Given the description of an element on the screen output the (x, y) to click on. 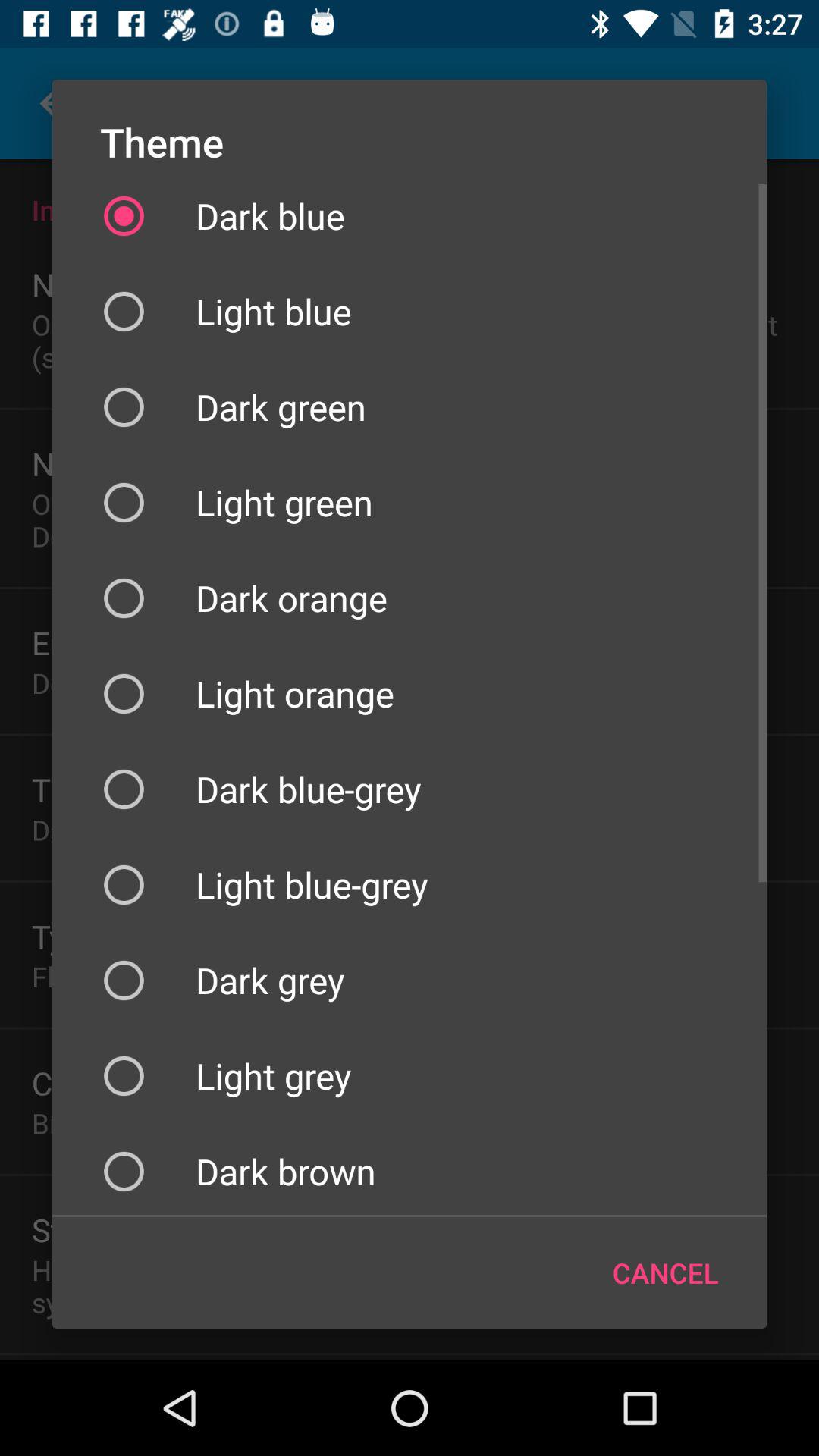
open cancel at the bottom right corner (665, 1272)
